Given the description of an element on the screen output the (x, y) to click on. 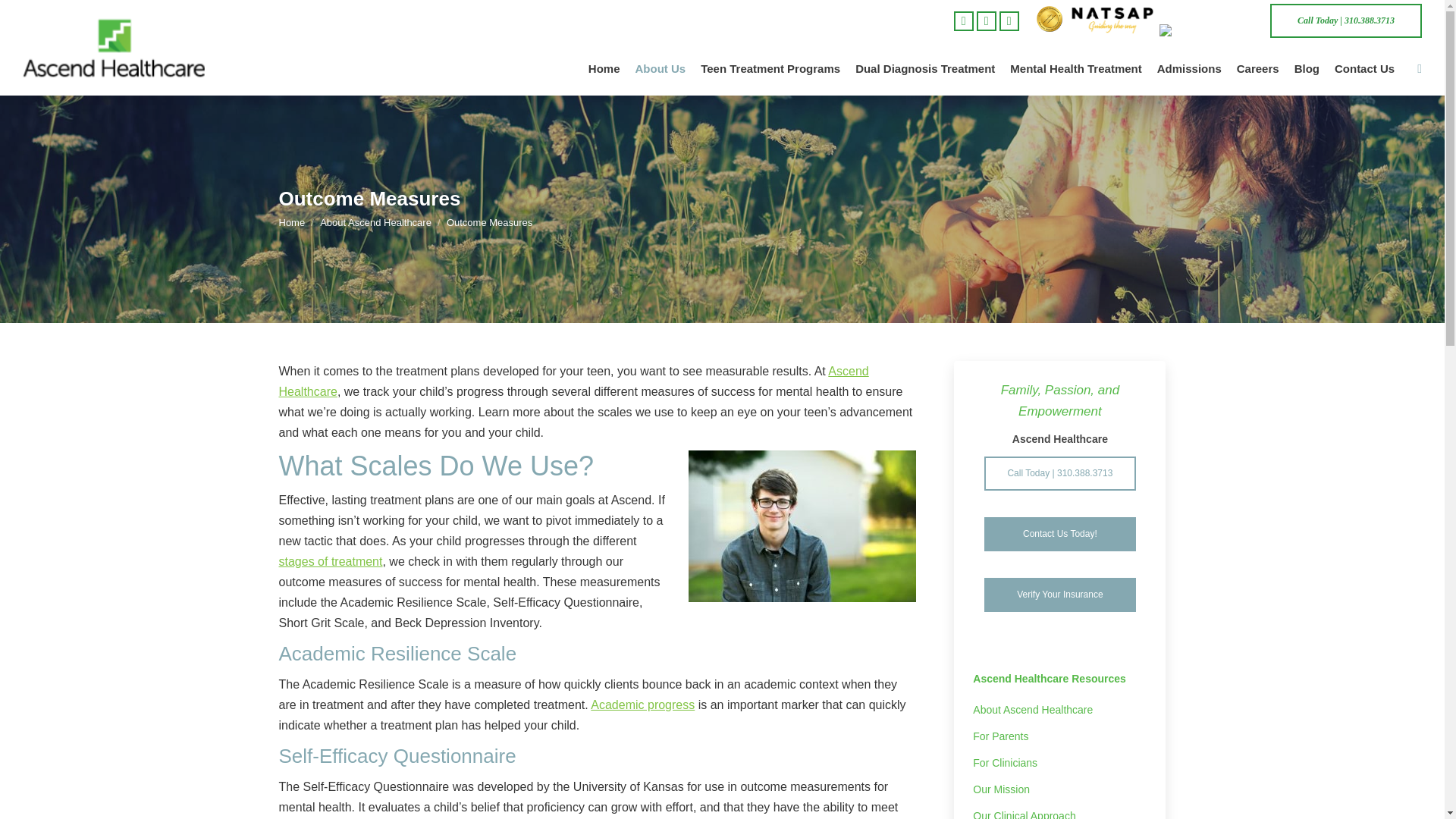
Twitter page opens in new window (985, 20)
Verify LegitScript Approval (1206, 30)
Instagram page opens in new window (1008, 20)
Twitter page opens in new window (985, 20)
About Us (659, 68)
Contact Ascend Healthcare (1059, 533)
Insurance Coverage (1059, 594)
Home (604, 68)
Teen Treatment Programs (770, 68)
Facebook page opens in new window (963, 20)
Instagram page opens in new window (1008, 20)
Facebook page opens in new window (963, 20)
